Given the description of an element on the screen output the (x, y) to click on. 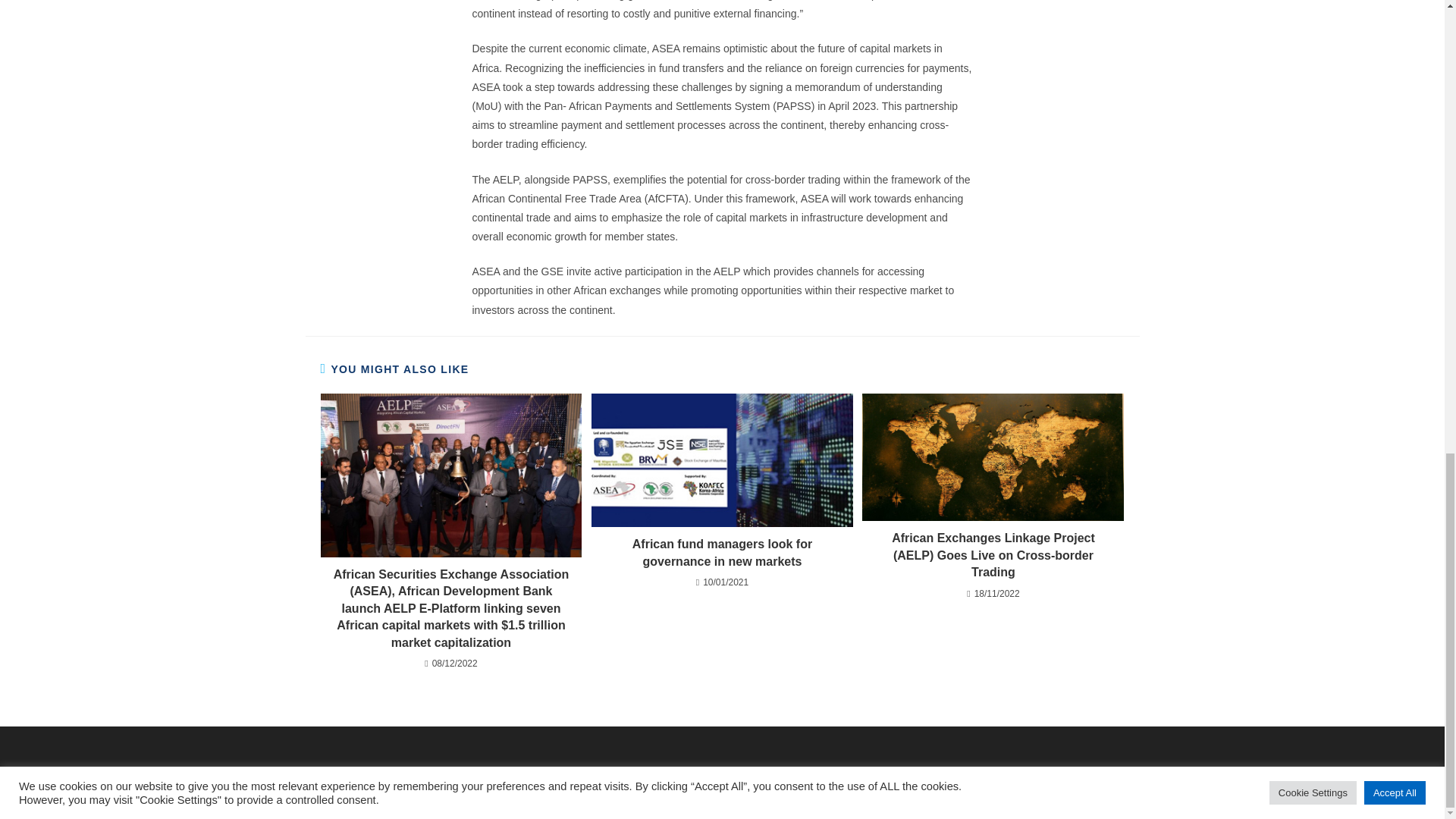
African fund managers look for governance in new markets (721, 553)
African fund managers look for governance in new markets (721, 553)
